Given the description of an element on the screen output the (x, y) to click on. 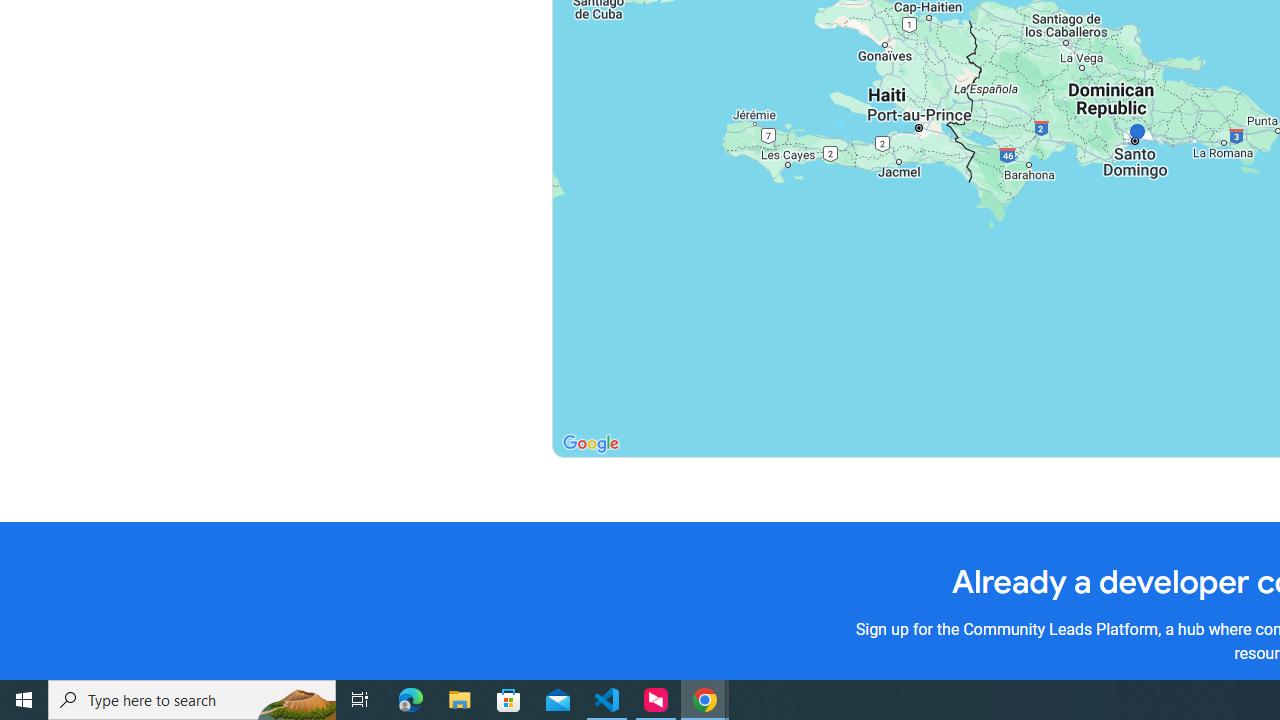
Google (590, 444)
Open this area in Google Maps (opens a new window) (590, 444)
